Given the description of an element on the screen output the (x, y) to click on. 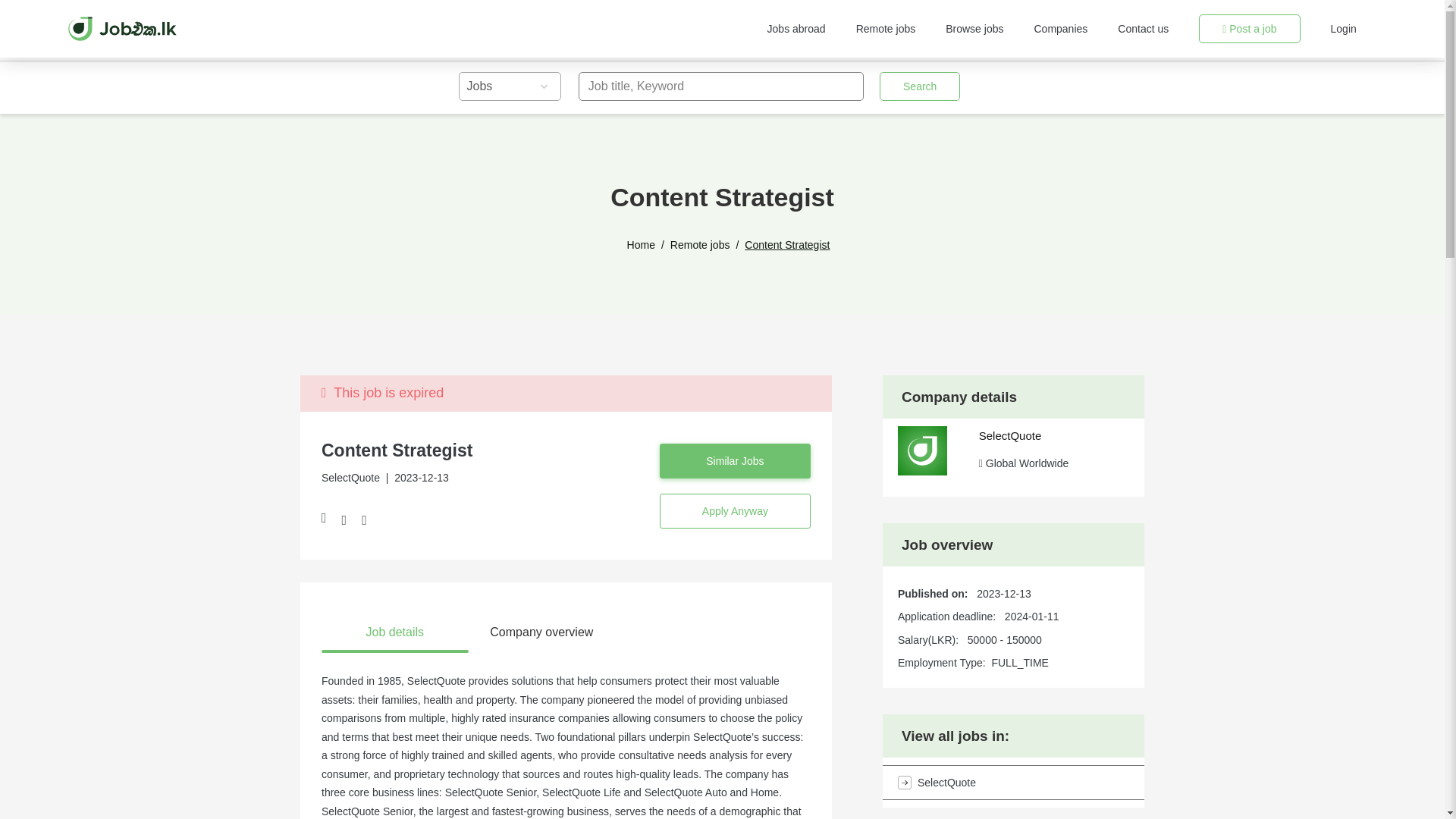
Post a job (1249, 28)
Browse jobs (973, 28)
Contact us (1143, 28)
Similar Jobs (734, 460)
SelectQuote (1010, 435)
Apply Anyway (734, 510)
Company overview (541, 632)
SelectQuote (1013, 782)
Login (1343, 28)
Remote jobs (699, 244)
